Given the description of an element on the screen output the (x, y) to click on. 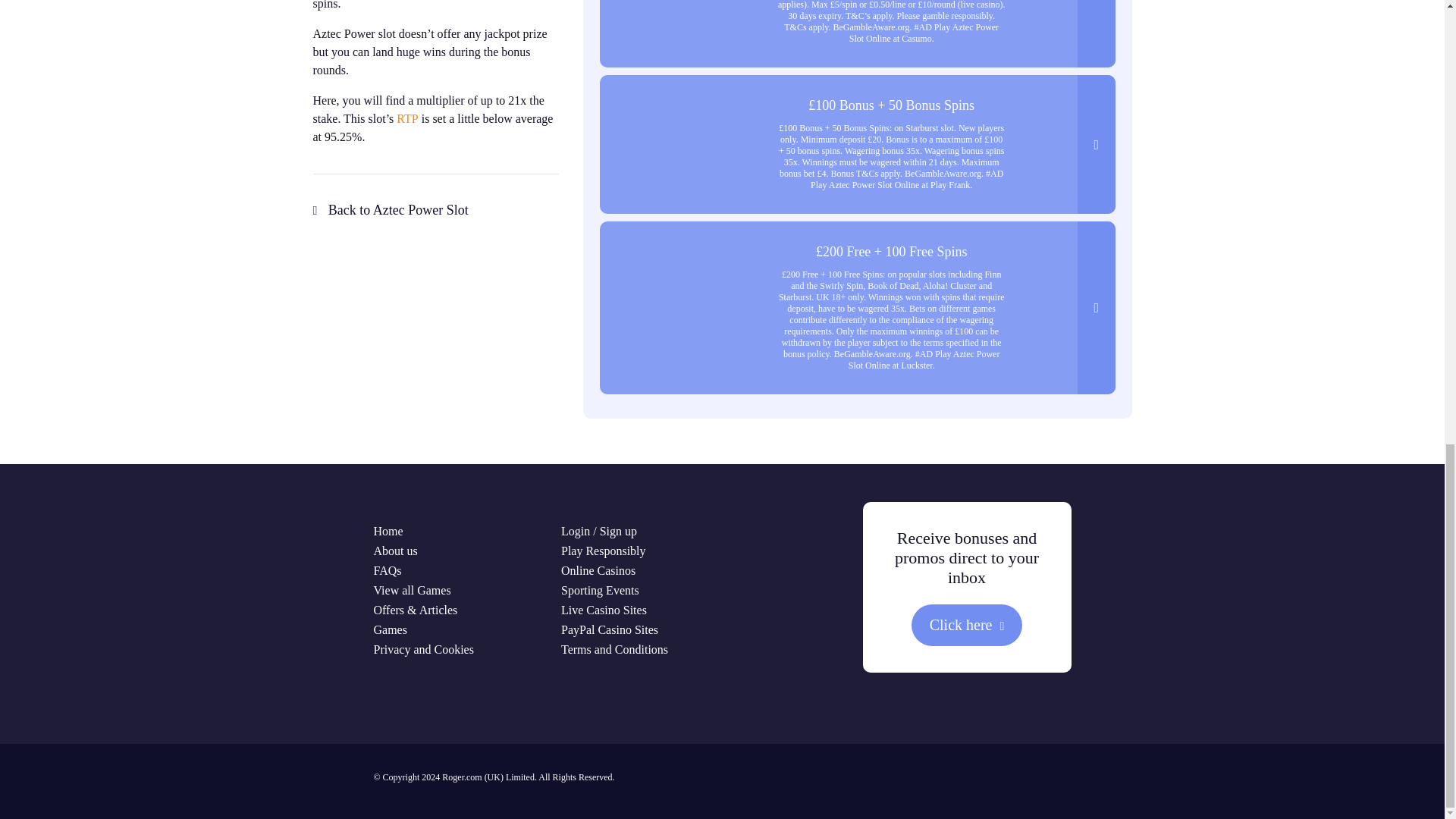
Online Casinos (597, 570)
View all Games (410, 590)
FAQs (386, 570)
Games (389, 629)
Click here (967, 625)
PayPal Casino Sites (609, 629)
Play Responsibly (603, 550)
About us (394, 550)
Privacy and Cookies (422, 649)
Back to Aztec Power Slot (390, 209)
Live Casino Sites (603, 609)
RTP (406, 118)
Sporting Events (599, 590)
Home (387, 530)
